Given the description of an element on the screen output the (x, y) to click on. 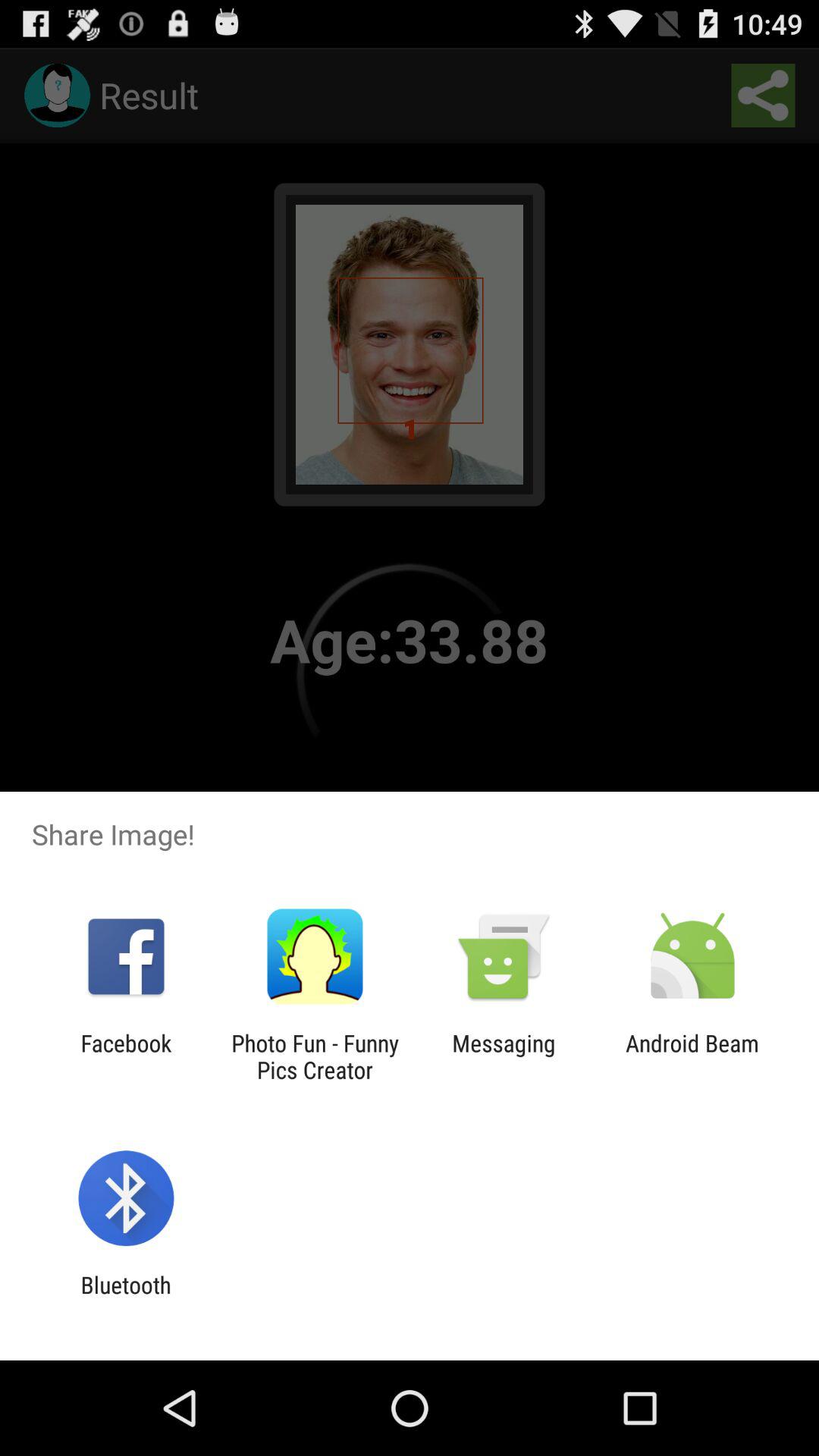
select messaging app (503, 1056)
